Given the description of an element on the screen output the (x, y) to click on. 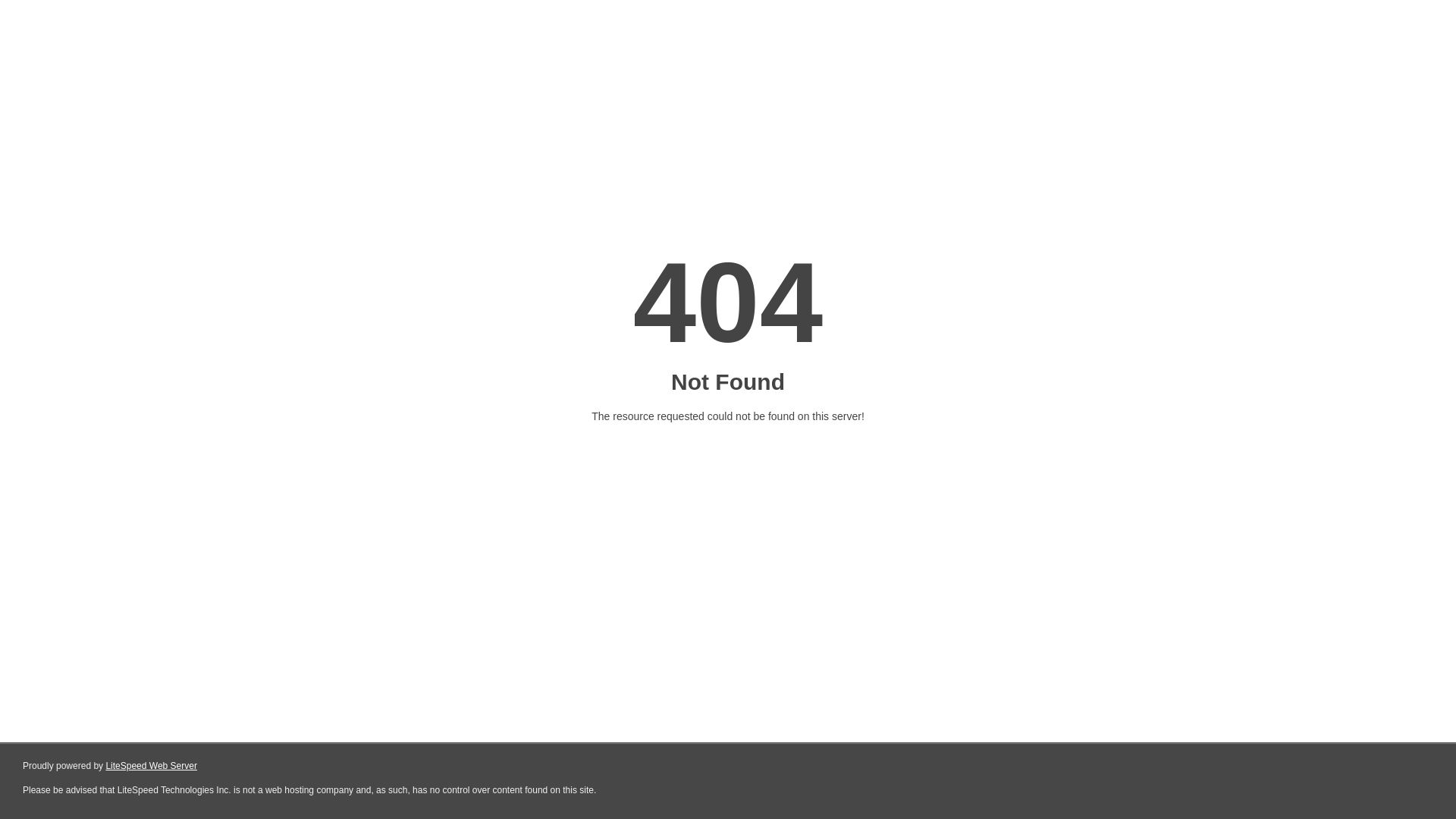
LiteSpeed Web Server Element type: text (151, 765)
